Given the description of an element on the screen output the (x, y) to click on. 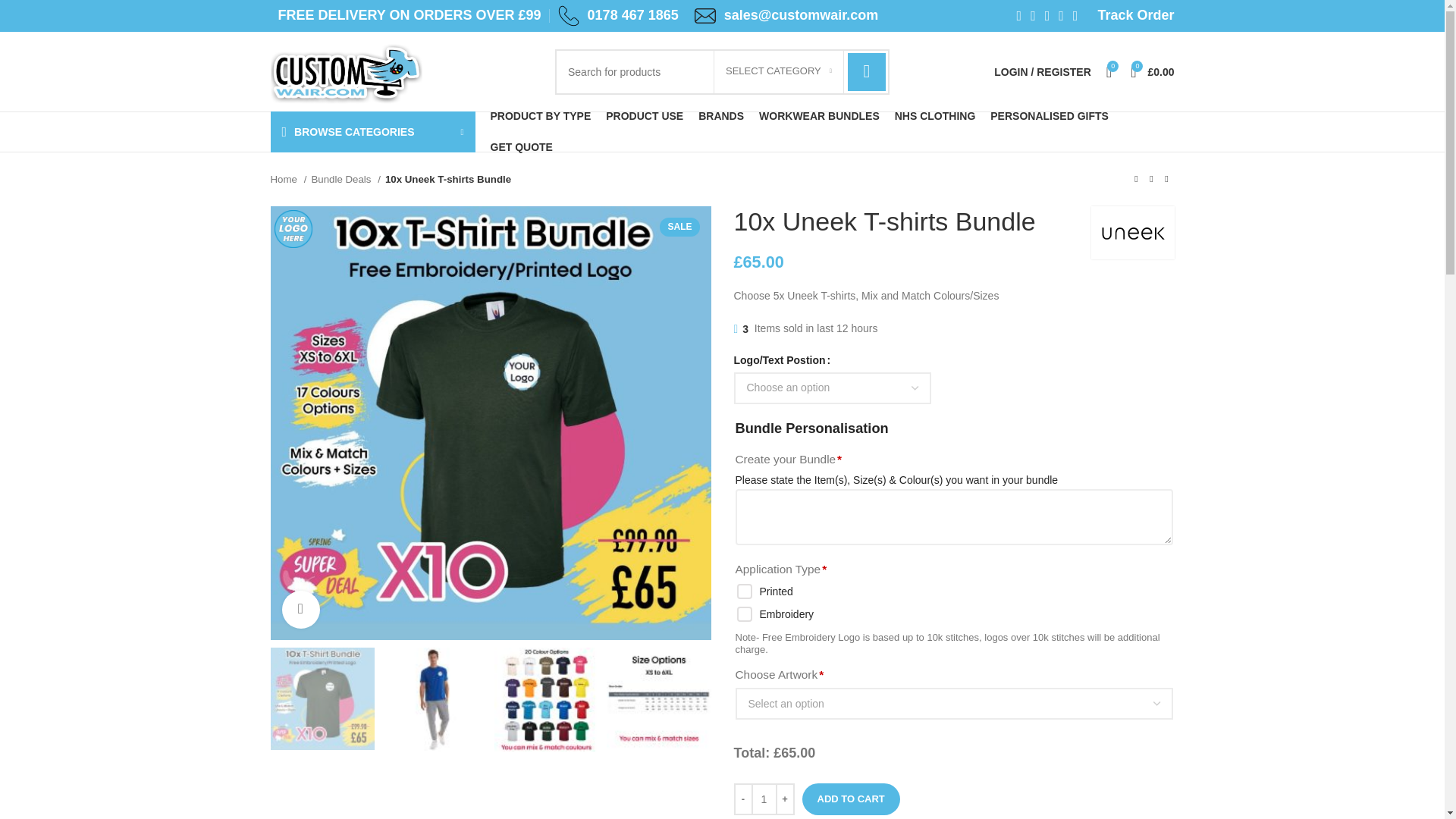
SELECT CATEGORY (778, 70)
Search for products (721, 71)
Shopping cart (1151, 71)
Uneek (1131, 232)
SELECT CATEGORY (778, 70)
My account (1043, 71)
